Given the description of an element on the screen output the (x, y) to click on. 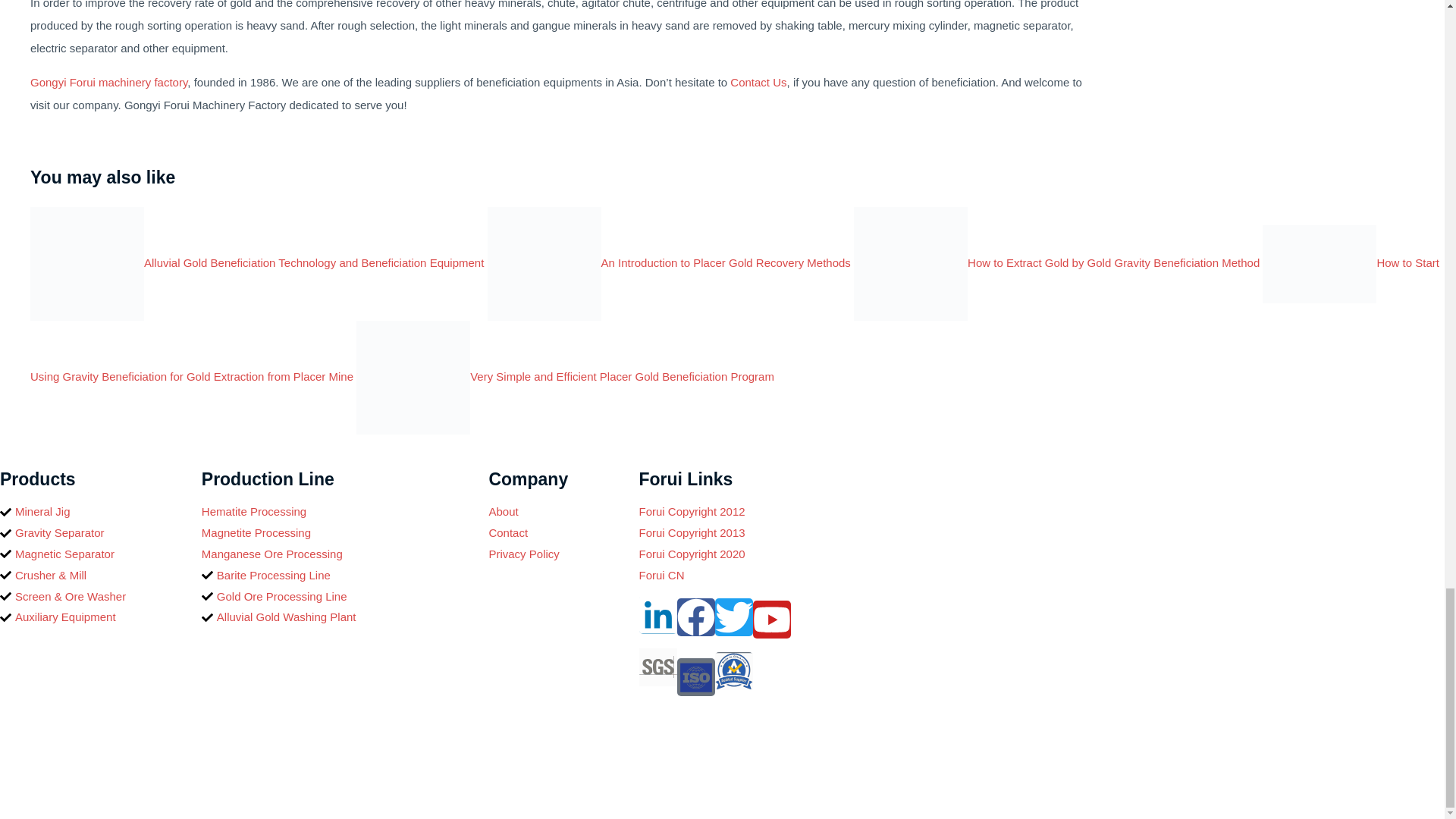
An Introduction to Placer Gold Recovery Methods (668, 262)
Contact Us (758, 82)
How to Extract Gold by Gold Gravity Beneficiation Method (1056, 262)
Very Simple and Efficient Placer Gold Beneficiation Program (565, 376)
Gongyi Forui machinery factory (108, 82)
